Given the description of an element on the screen output the (x, y) to click on. 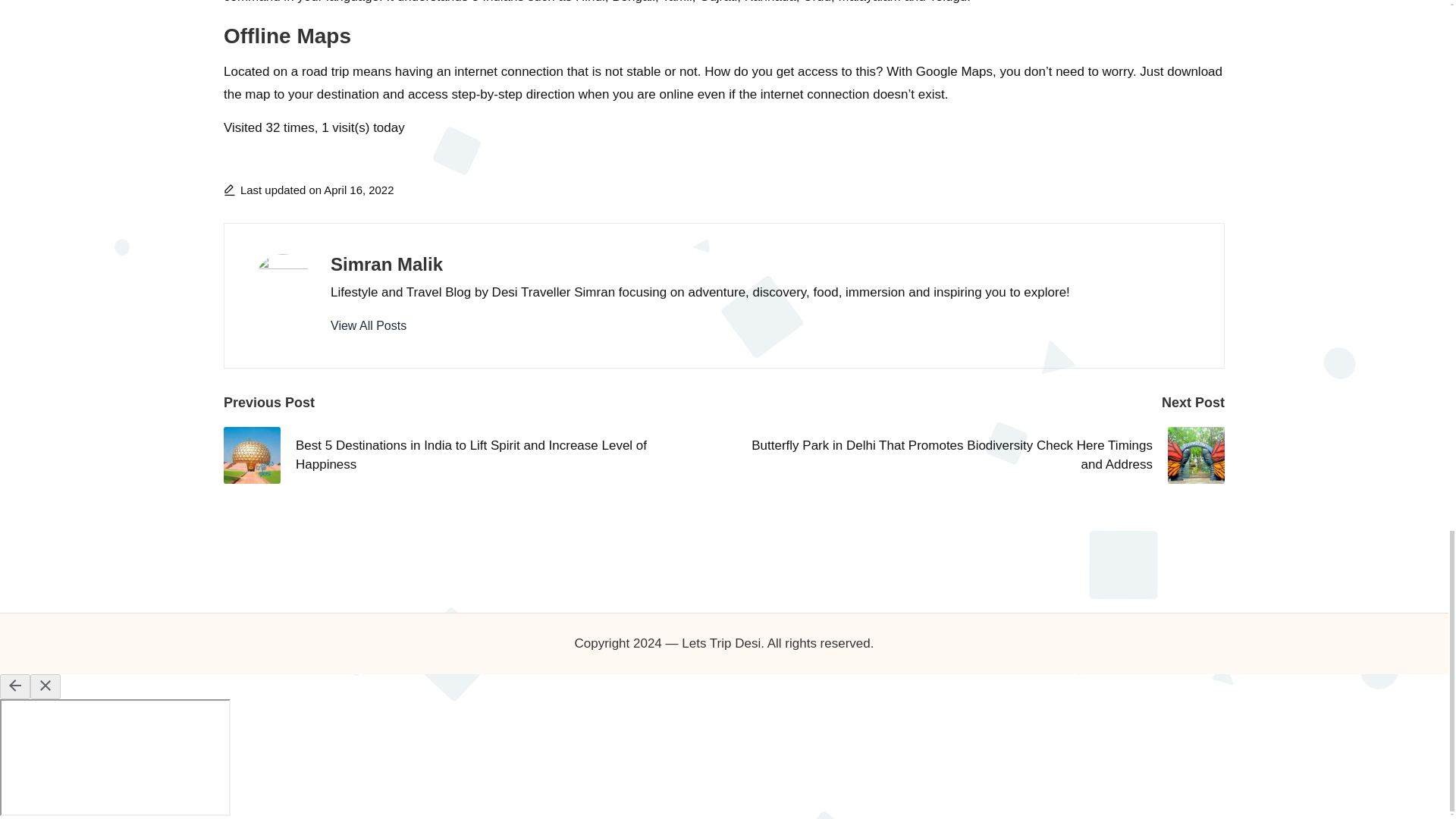
View All Posts (368, 325)
Simran Malik (386, 263)
